Given the description of an element on the screen output the (x, y) to click on. 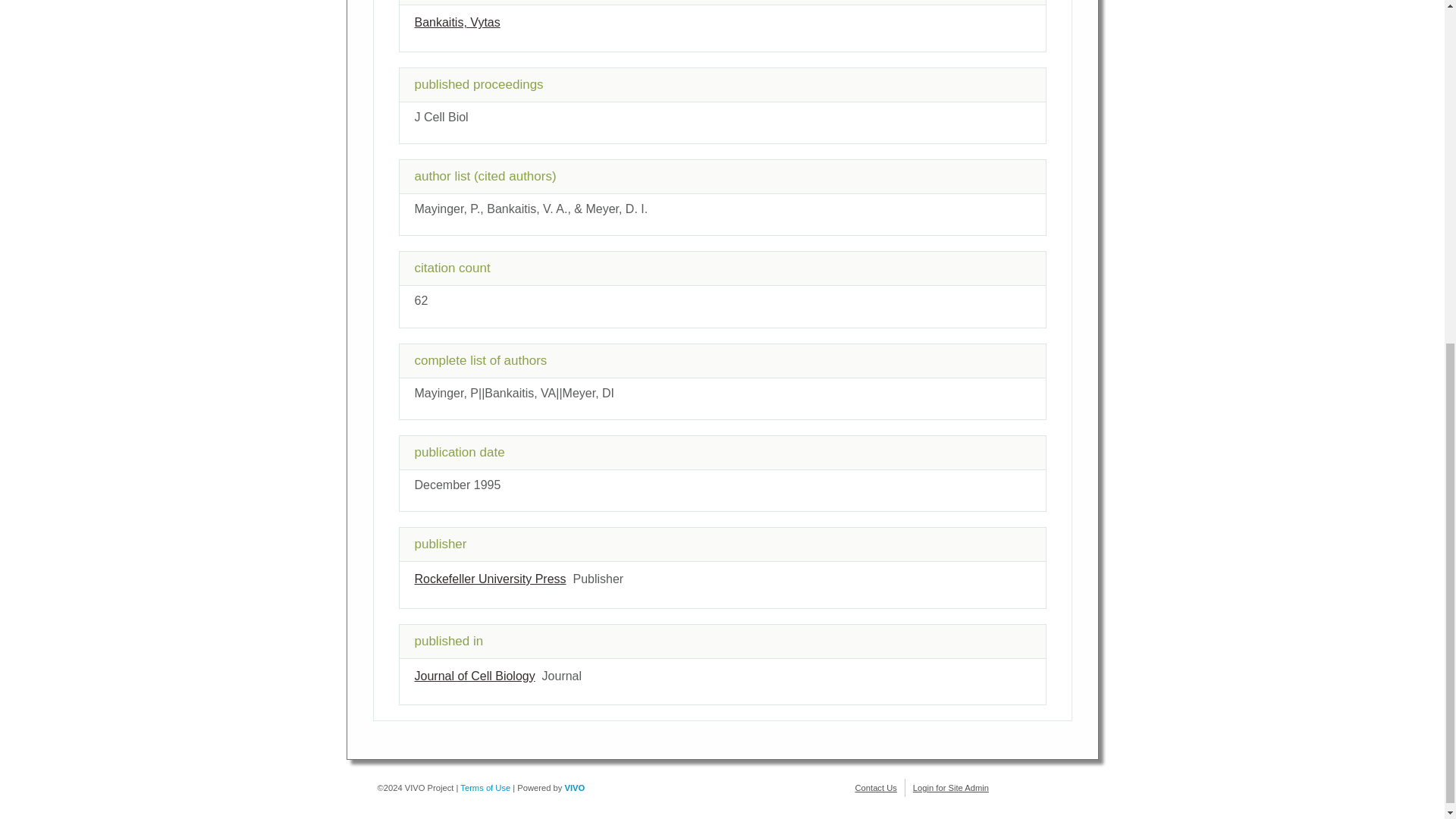
Journal of Cell Biology (473, 675)
author name (456, 21)
Terms of Use (485, 787)
Login for Site Admin (950, 787)
name (473, 675)
VIVO (574, 787)
Bankaitis, Vytas (456, 21)
name (489, 578)
Rockefeller University Press (489, 578)
Contact Us (876, 787)
